Given the description of an element on the screen output the (x, y) to click on. 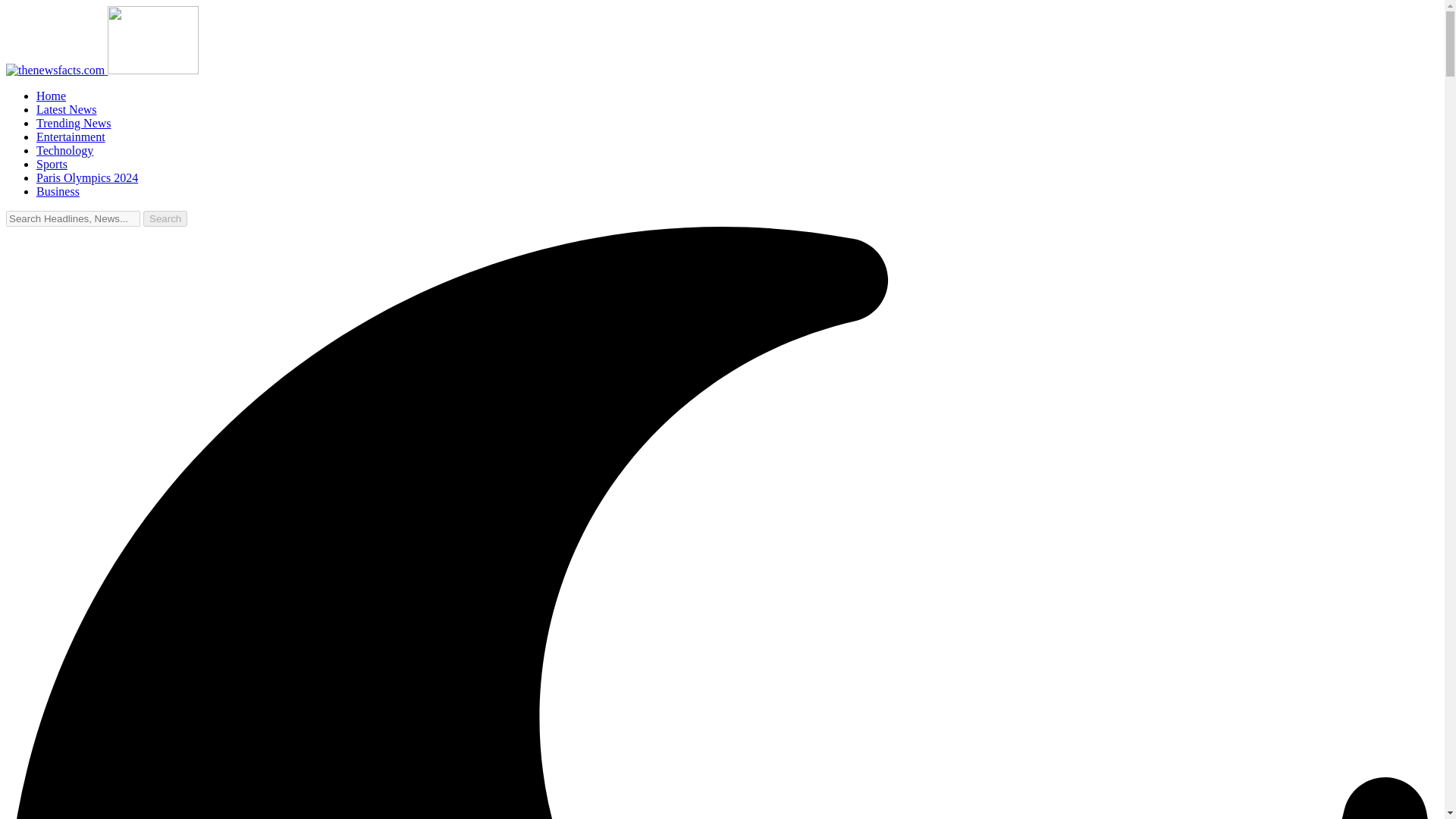
Technology (64, 150)
Entertainment (70, 136)
Latest News (66, 109)
Business (58, 191)
Trending News (74, 123)
Search (164, 218)
Home (50, 95)
Search (164, 218)
Sports (51, 164)
Paris Olympics 2024 (87, 177)
